Given the description of an element on the screen output the (x, y) to click on. 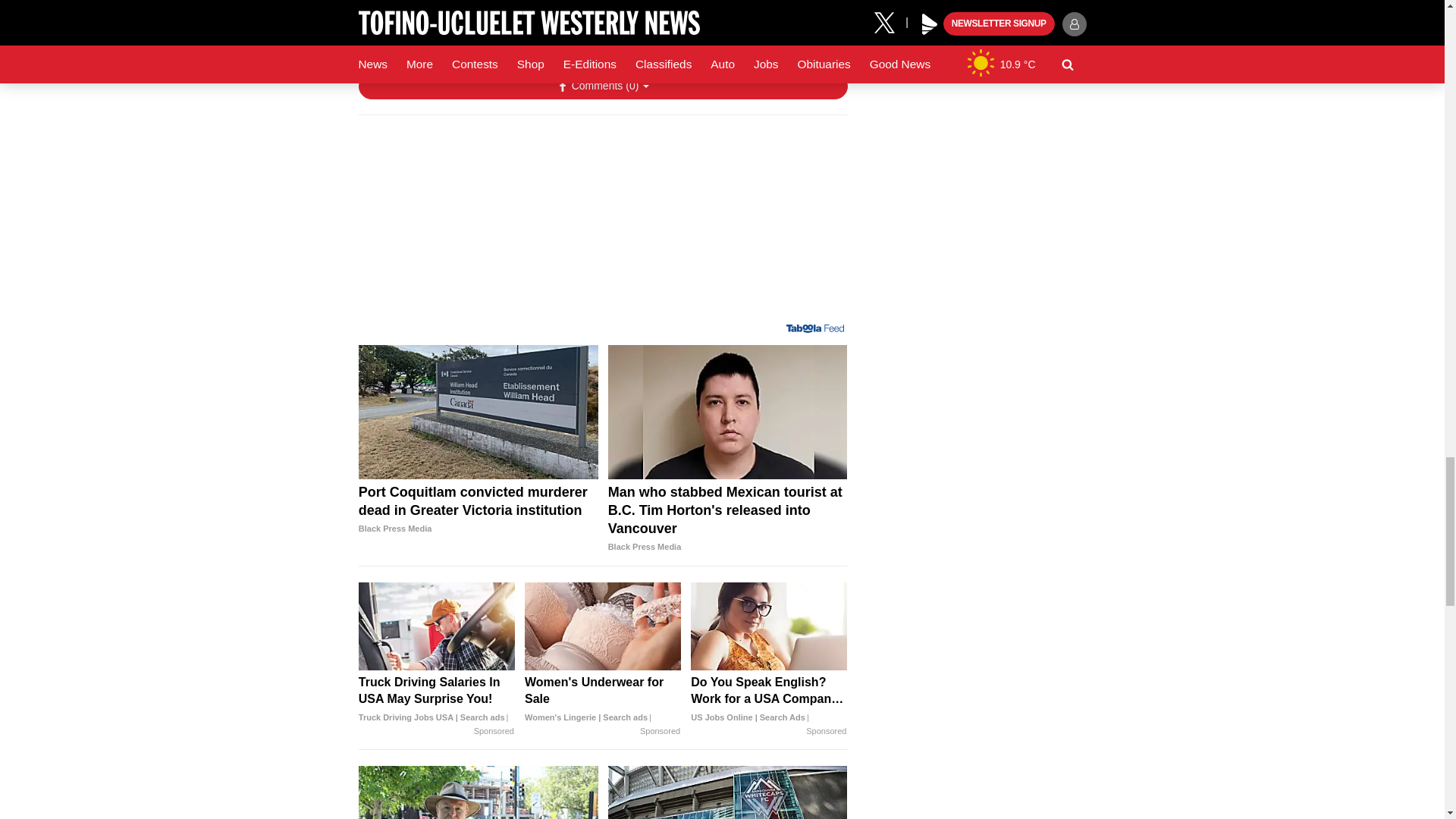
Show Comments (602, 86)
3rd party ad content (602, 225)
